Given the description of an element on the screen output the (x, y) to click on. 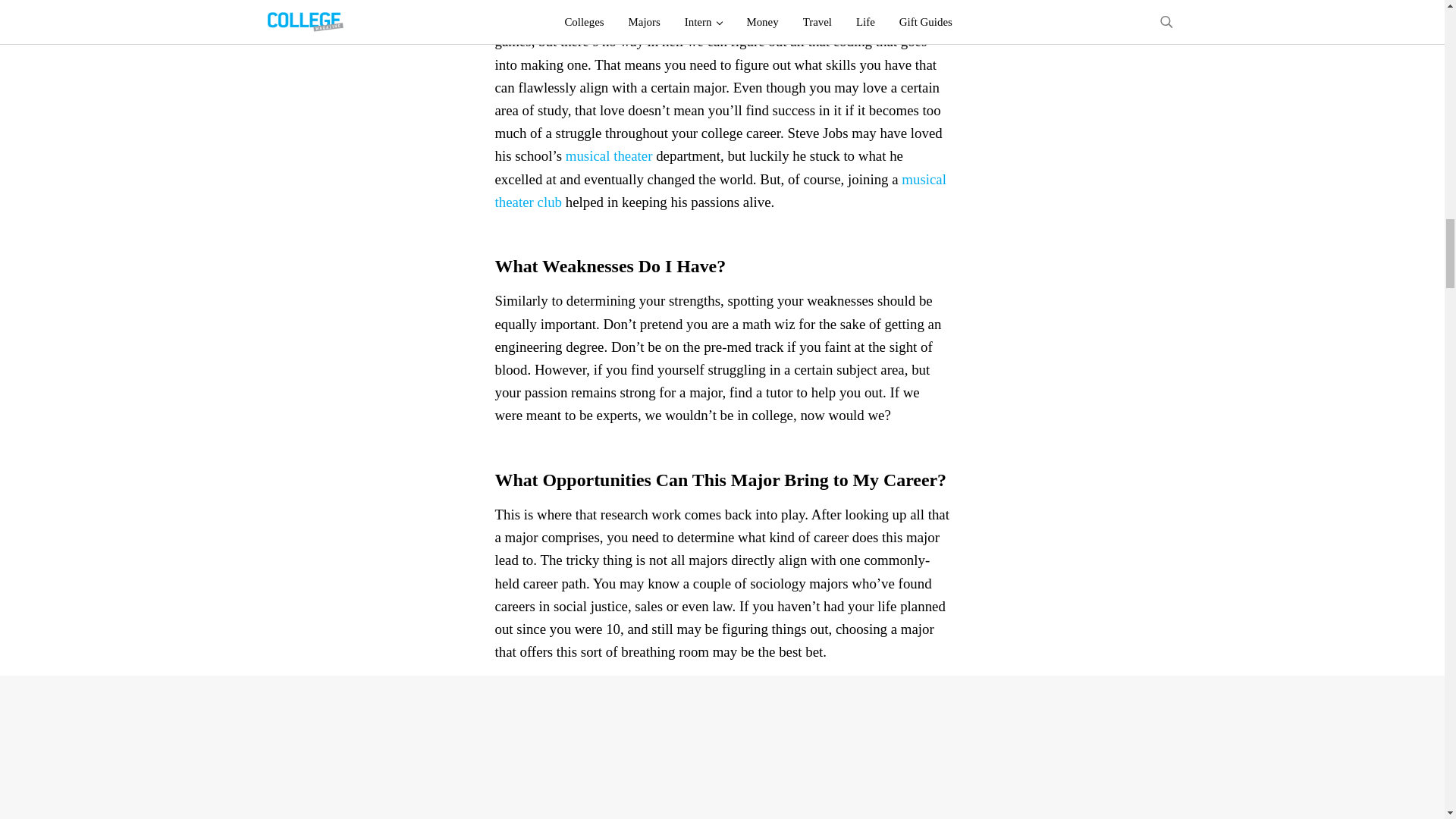
musical theater club (719, 190)
musical theater (609, 155)
what you enjoy doing (836, 2)
